Given the description of an element on the screen output the (x, y) to click on. 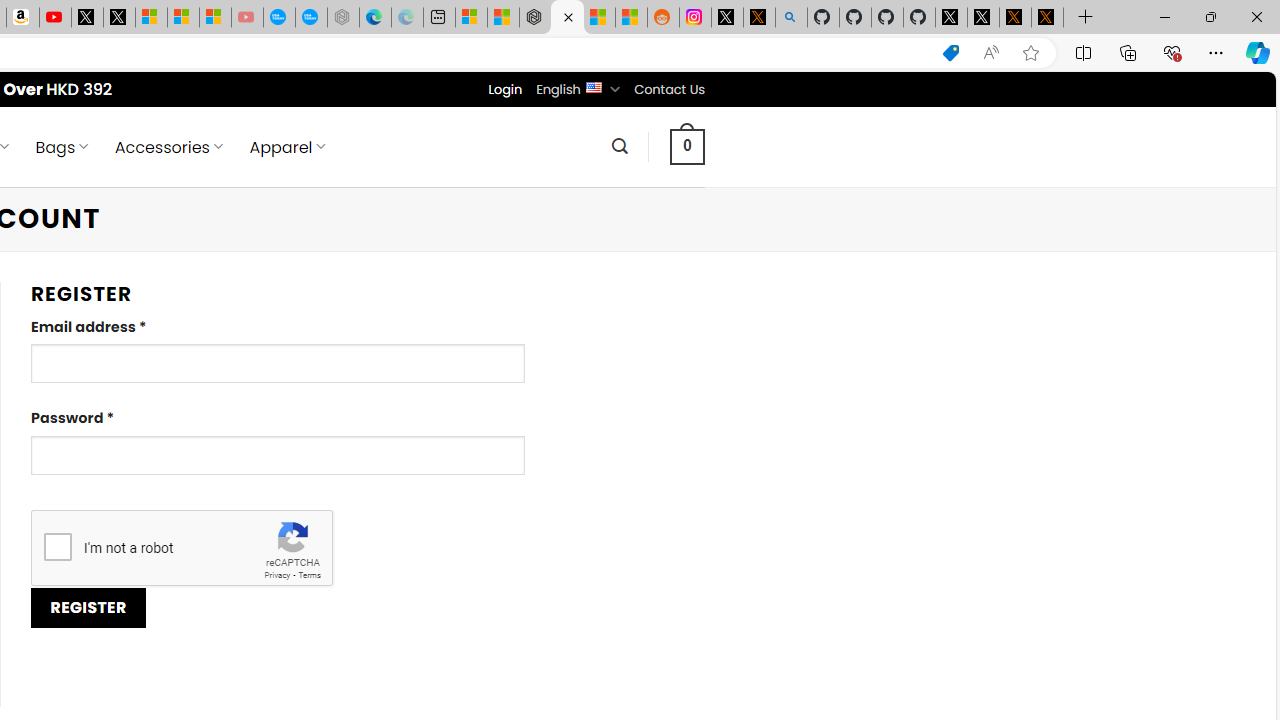
help.x.com | 524: A timeout occurred (758, 17)
X Privacy Policy (1047, 17)
Profile / X (950, 17)
Login (505, 89)
The most popular Google 'how to' searches (310, 17)
Contact Us (669, 89)
English (592, 86)
This site has coupons! Shopping in Microsoft Edge (950, 53)
Terms (309, 575)
